Given the description of an element on the screen output the (x, y) to click on. 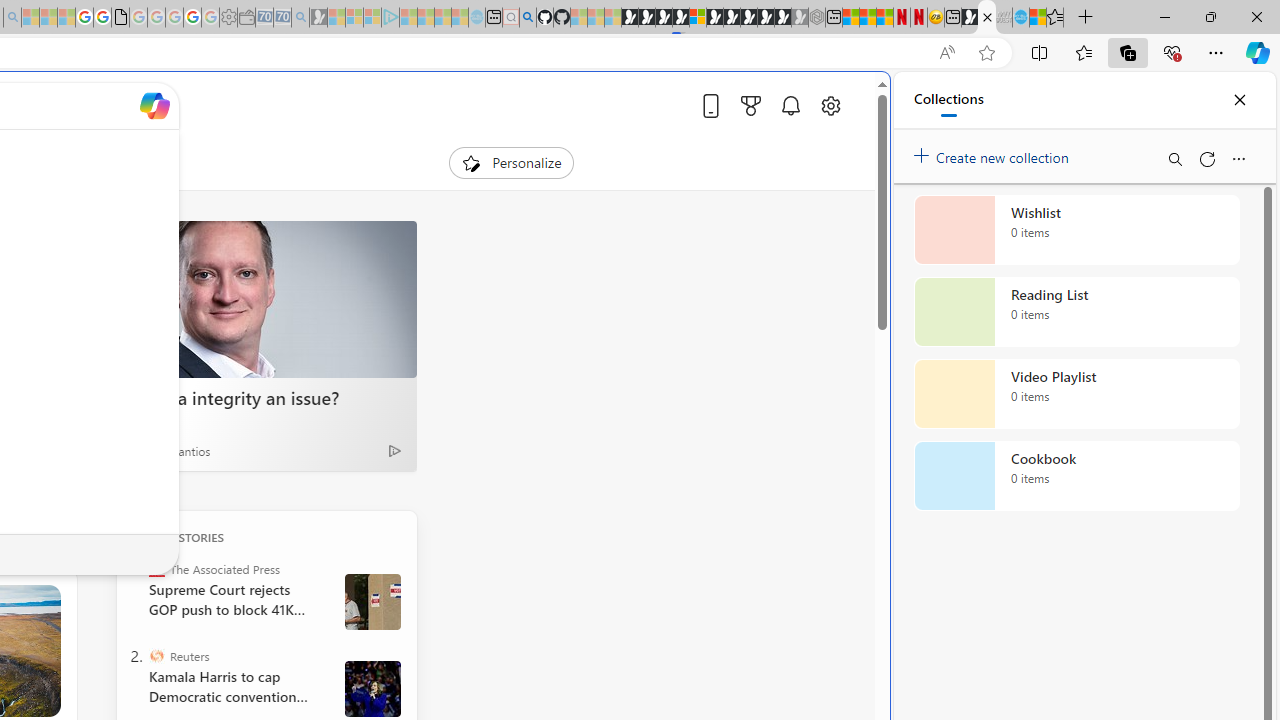
More options menu (1238, 158)
